Given the description of an element on the screen output the (x, y) to click on. 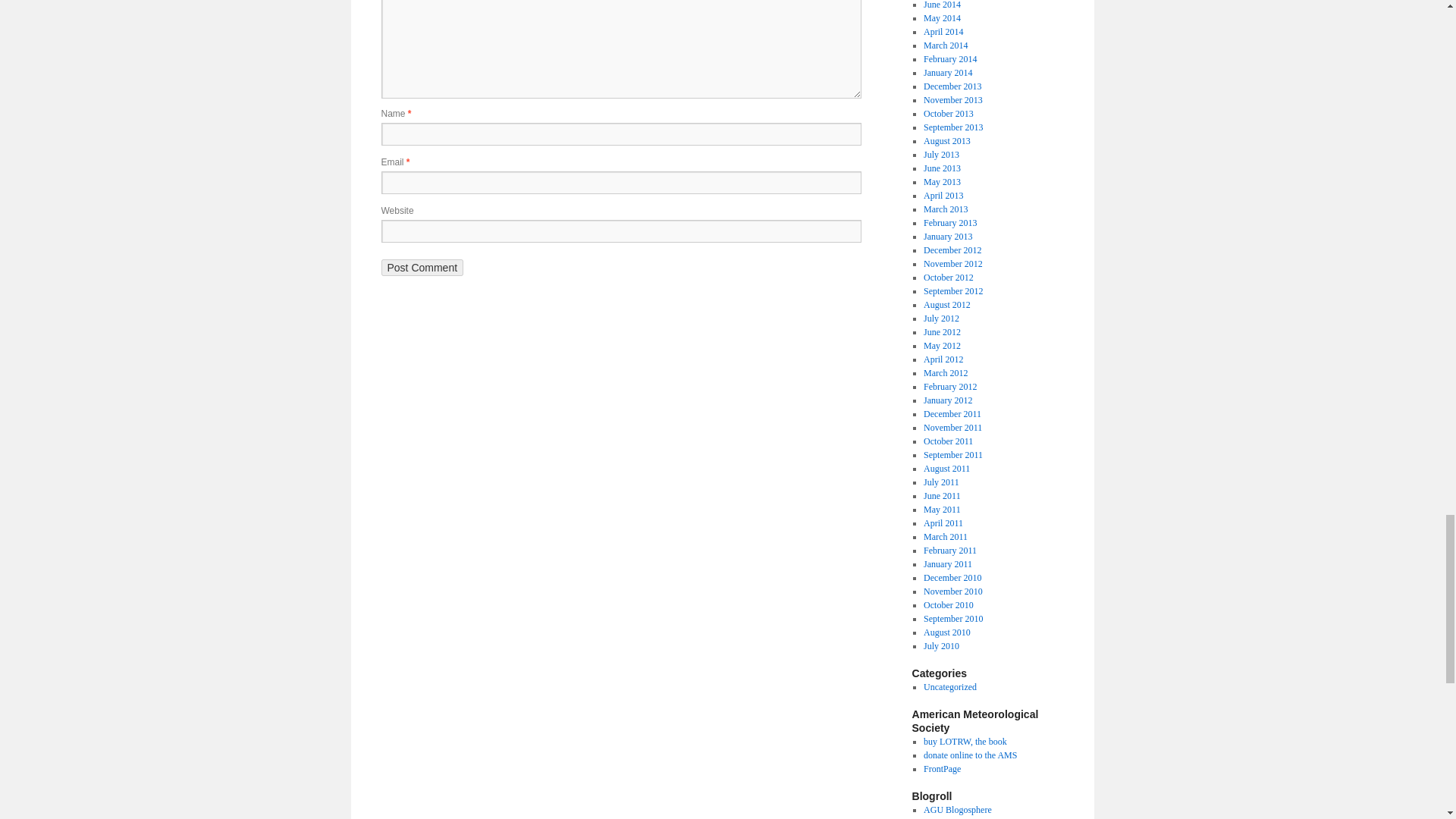
support the work of the AMS Policy Program (969, 755)
Post Comment (421, 267)
Blog of the American Meteorological Society (941, 768)
Post Comment (421, 267)
